Given the description of an element on the screen output the (x, y) to click on. 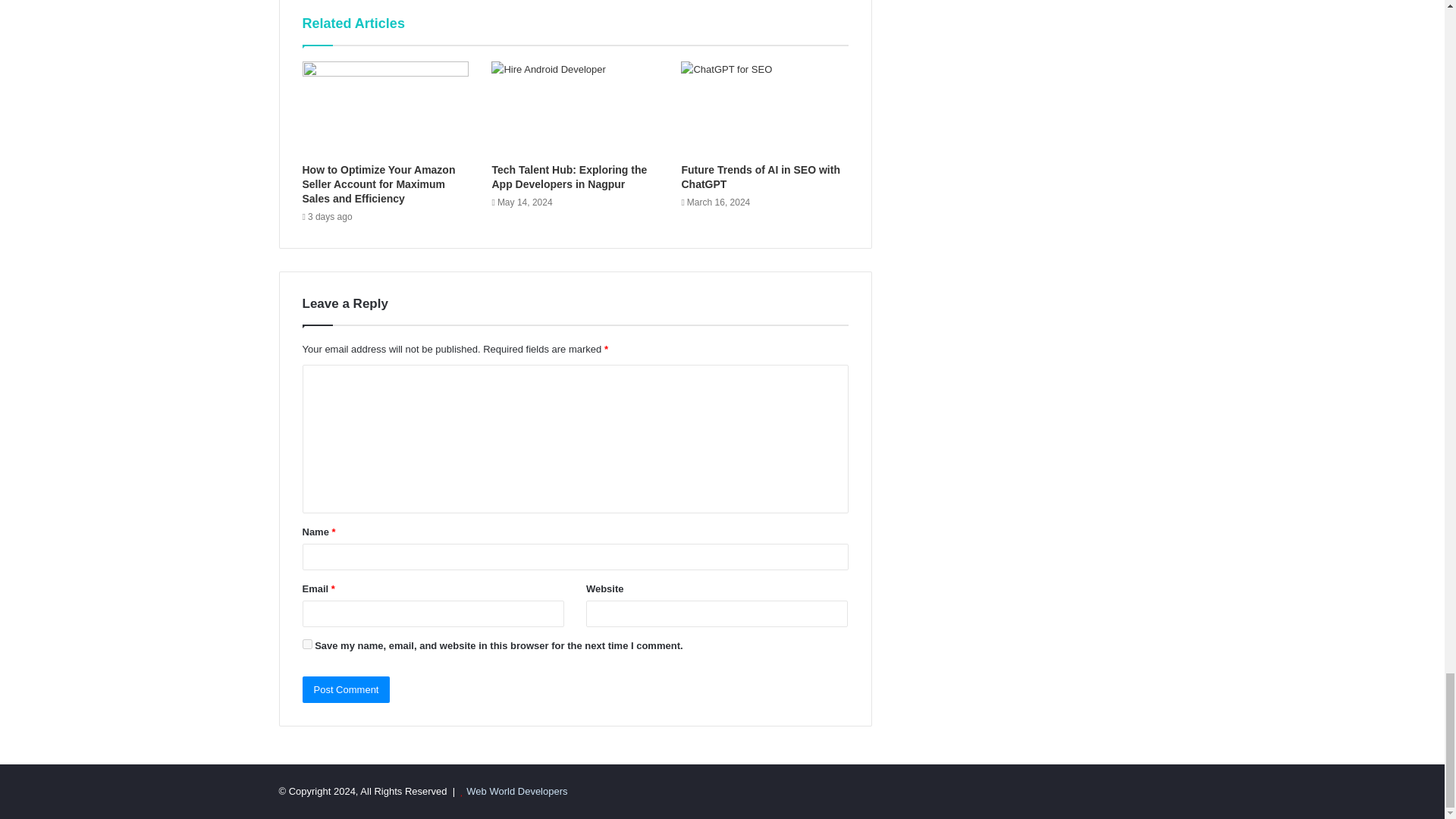
yes (306, 644)
Post Comment (345, 689)
